Given the description of an element on the screen output the (x, y) to click on. 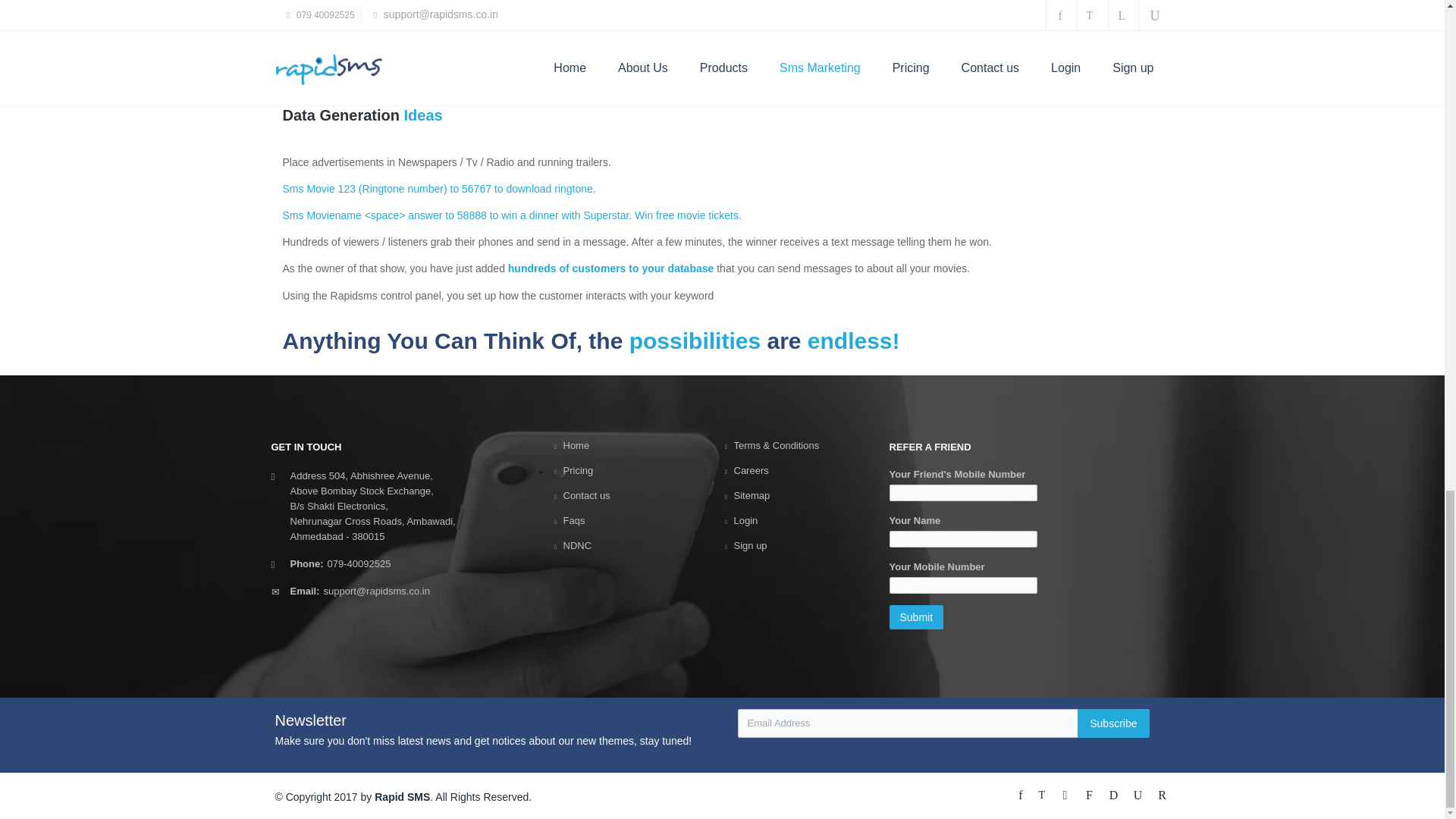
Youtube (1140, 793)
RSS (1161, 793)
Dribbble (1115, 793)
Submit (915, 617)
Facebook (1021, 793)
Twitter (1043, 793)
LinkedIn (1067, 793)
Email Address (911, 723)
Flickr (1091, 793)
